Given the description of an element on the screen output the (x, y) to click on. 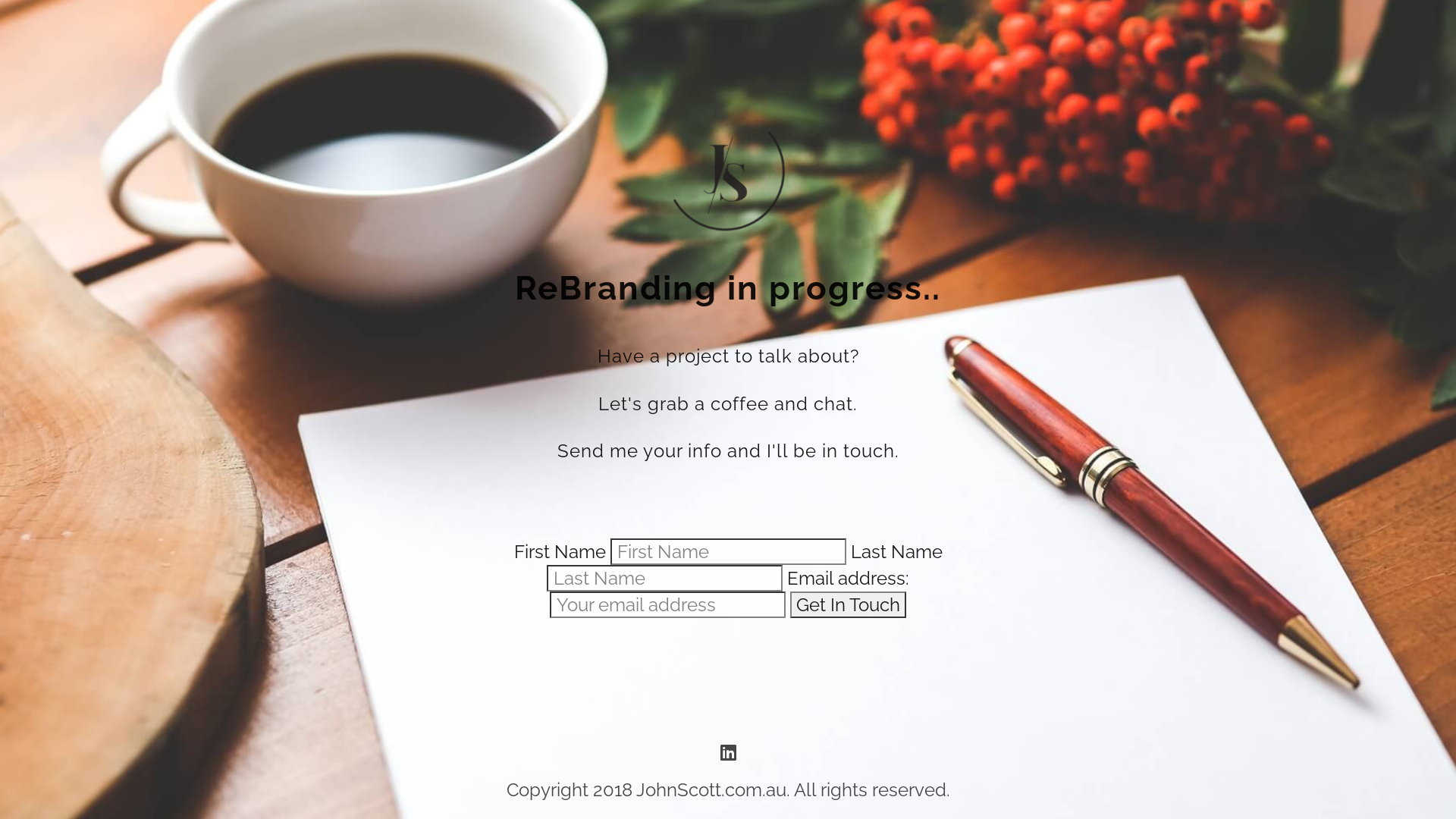
Get In Touch Element type: text (848, 604)
